Given the description of an element on the screen output the (x, y) to click on. 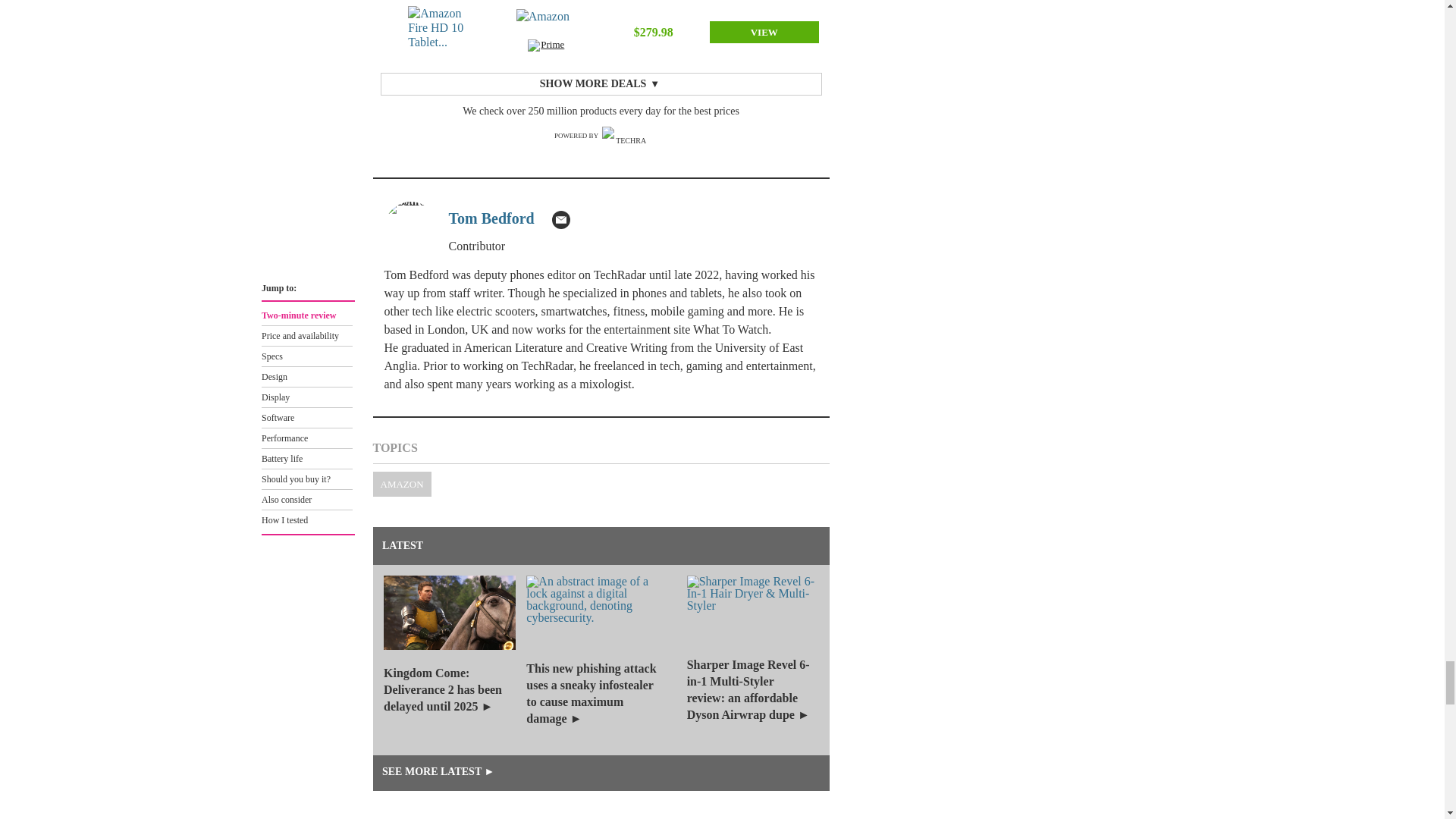
Prime (546, 47)
Amazon Fire HD 10 Tablet... (437, 31)
Amazon (546, 24)
Techradar (624, 135)
